Given the description of an element on the screen output the (x, y) to click on. 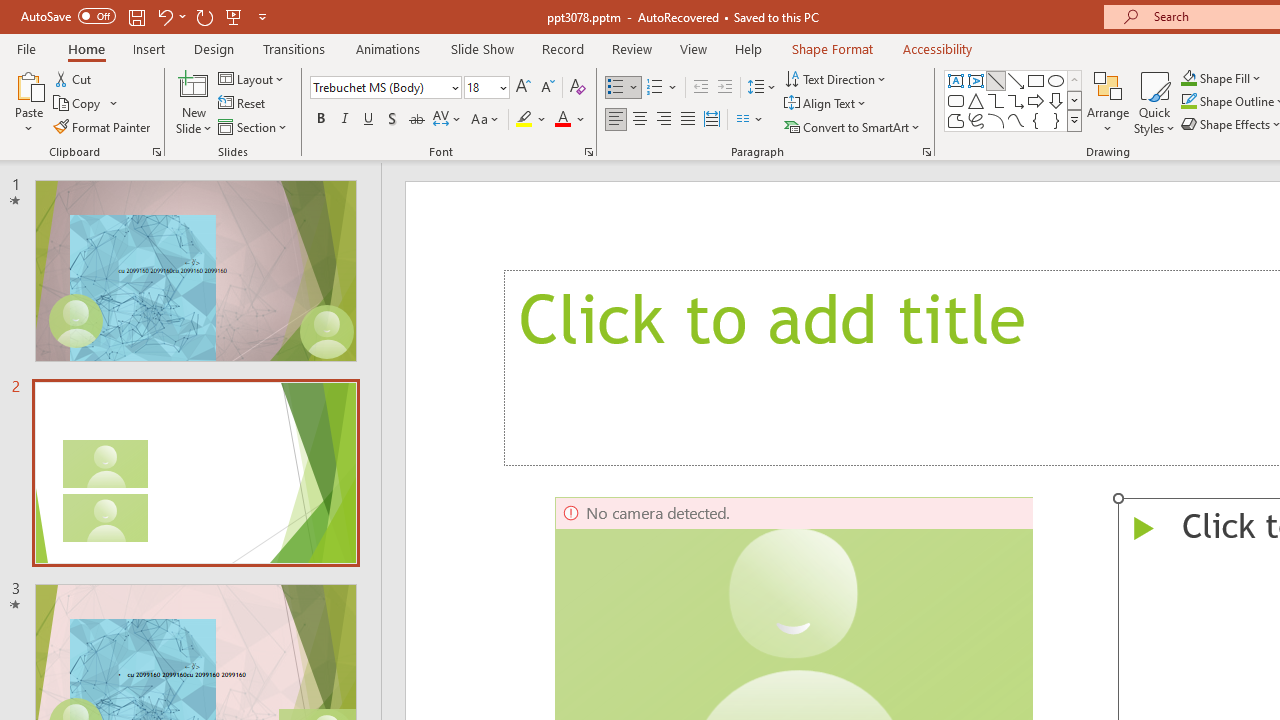
Clear Formatting (577, 87)
Underline (369, 119)
Isosceles Triangle (975, 100)
Text Highlight Color Yellow (524, 119)
Bold (320, 119)
Increase Font Size (522, 87)
Center (639, 119)
Format Painter (103, 126)
Freeform: Shape (955, 120)
